Given the description of an element on the screen output the (x, y) to click on. 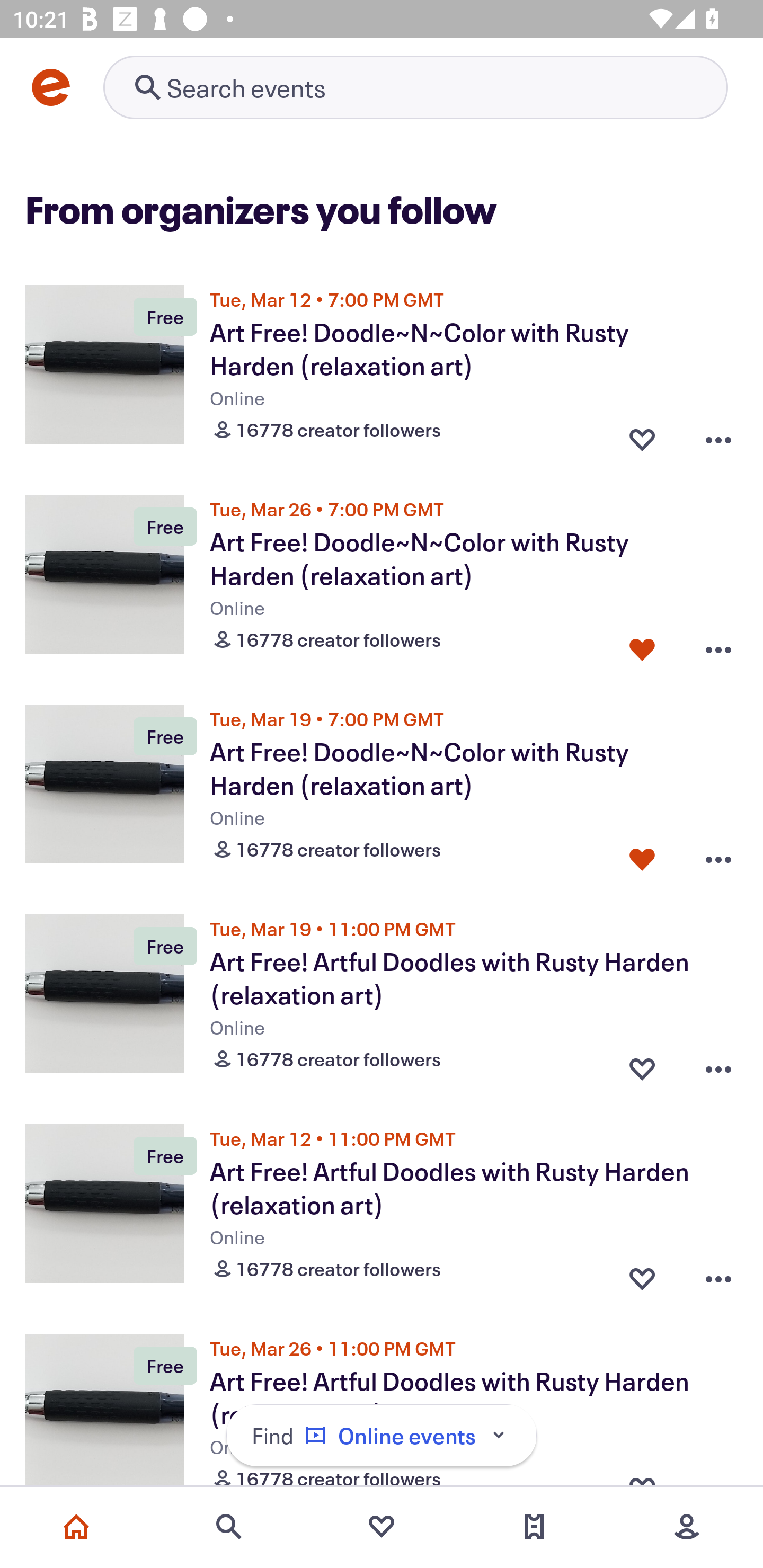
Retry's image Search events (415, 86)
Favorite button (642, 434)
Overflow menu button (718, 434)
Favorite button (642, 644)
Overflow menu button (718, 644)
Favorite button (642, 855)
Overflow menu button (718, 855)
Favorite button (642, 1065)
Overflow menu button (718, 1065)
Favorite button (642, 1274)
Overflow menu button (718, 1274)
Find Online events (381, 1435)
Home (76, 1526)
Search events (228, 1526)
Favorites (381, 1526)
Tickets (533, 1526)
More (686, 1526)
